Given the description of an element on the screen output the (x, y) to click on. 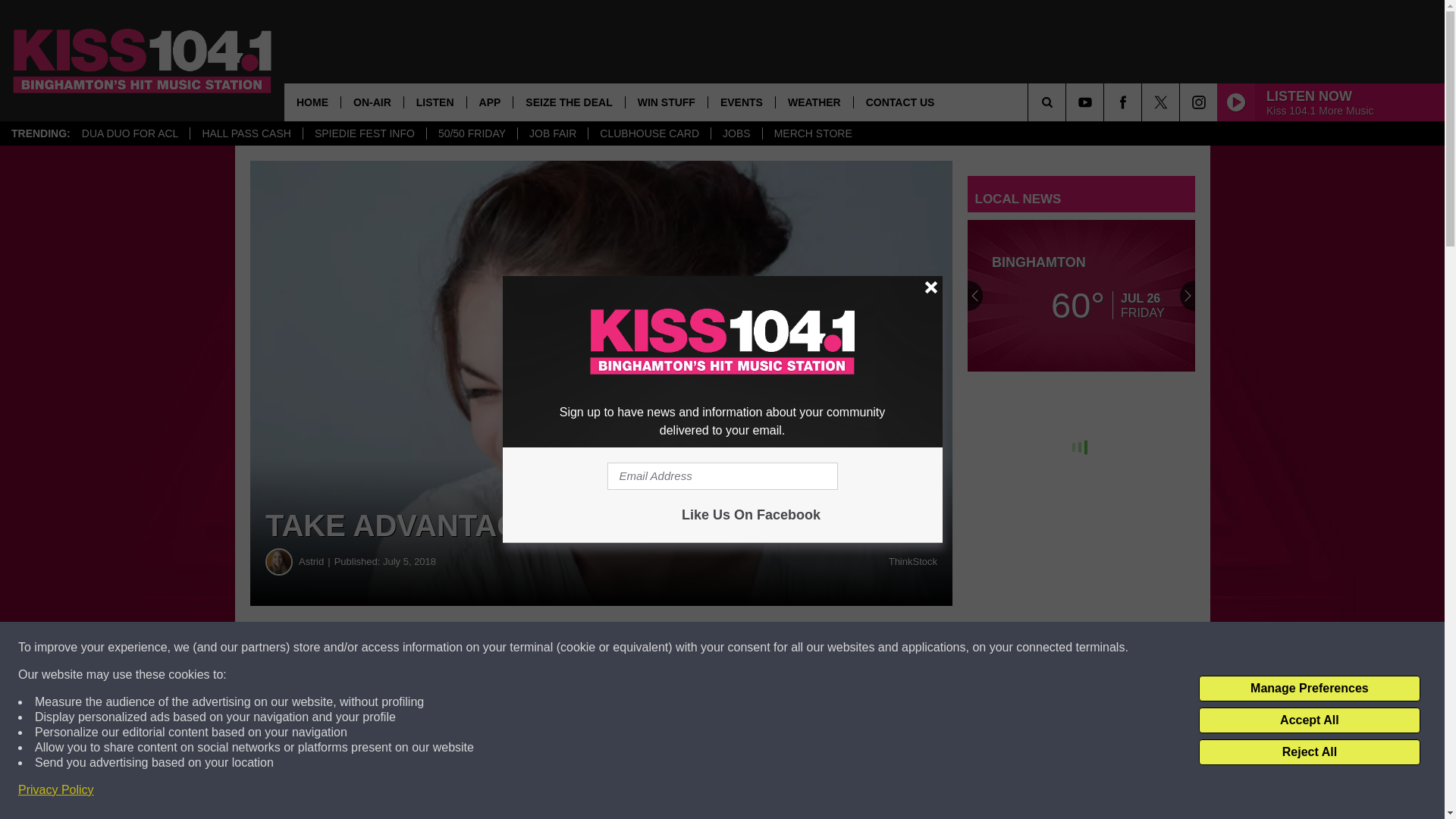
SEARCH (1068, 102)
Share on Facebook (460, 647)
SEARCH (1068, 102)
WEATHER (813, 102)
Accept All (1309, 720)
EVENTS (740, 102)
Share on Twitter (741, 647)
LISTEN (434, 102)
HALL PASS CASH (245, 133)
HOME (311, 102)
APP (489, 102)
JOBS (735, 133)
SEIZE THE DEAL (568, 102)
Manage Preferences (1309, 688)
DUA DUO FOR ACL (129, 133)
